Given the description of an element on the screen output the (x, y) to click on. 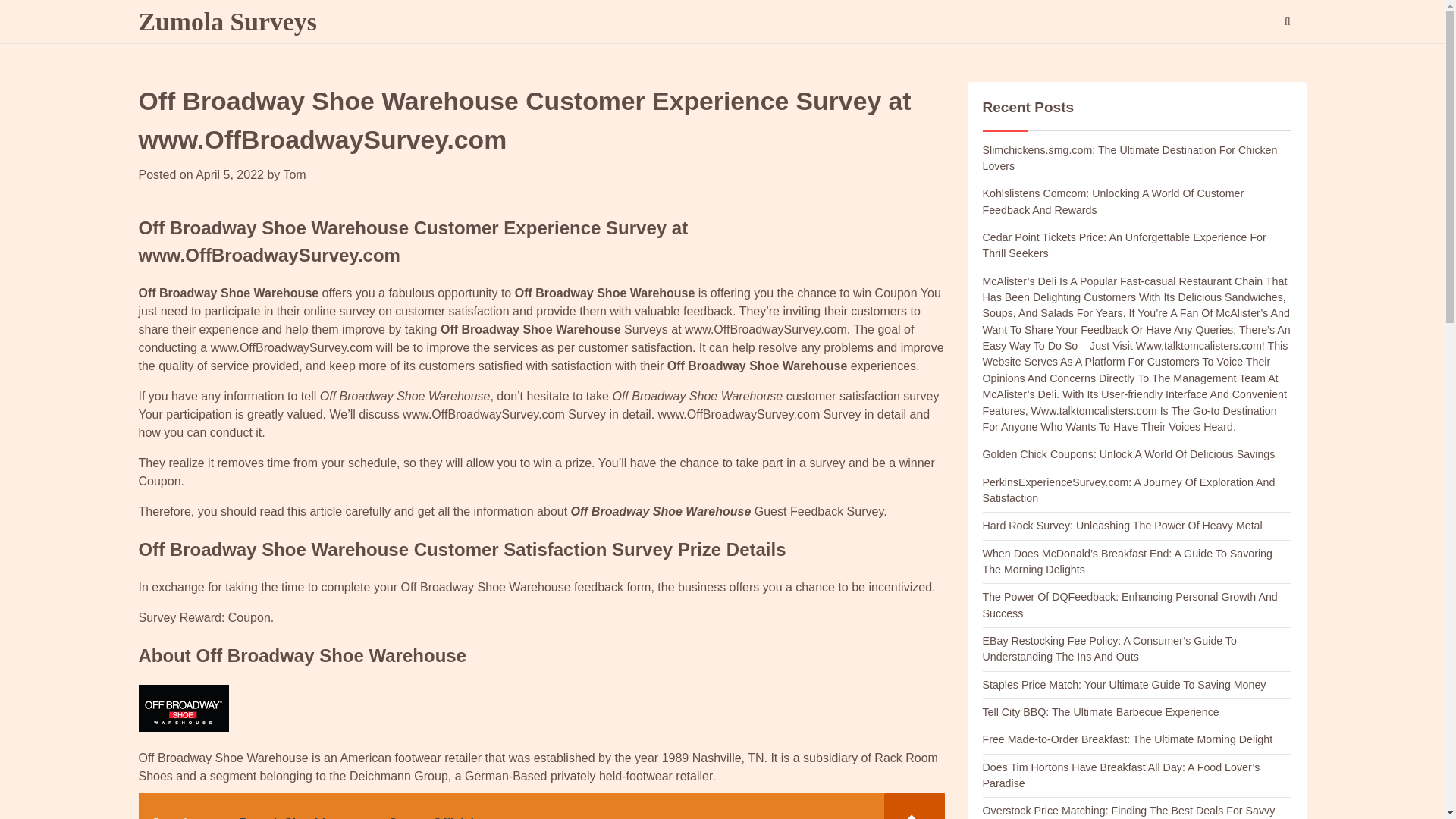
Zumola Surveys (226, 21)
Tell City BBQ: The Ultimate Barbecue Experience (1101, 711)
Search (1259, 60)
Tom (293, 174)
See also  www.BargainShopListens.com Survey Official (540, 806)
Search (1286, 21)
Golden Chick Coupons: Unlock A World Of Delicious Savings (1128, 453)
